Given the description of an element on the screen output the (x, y) to click on. 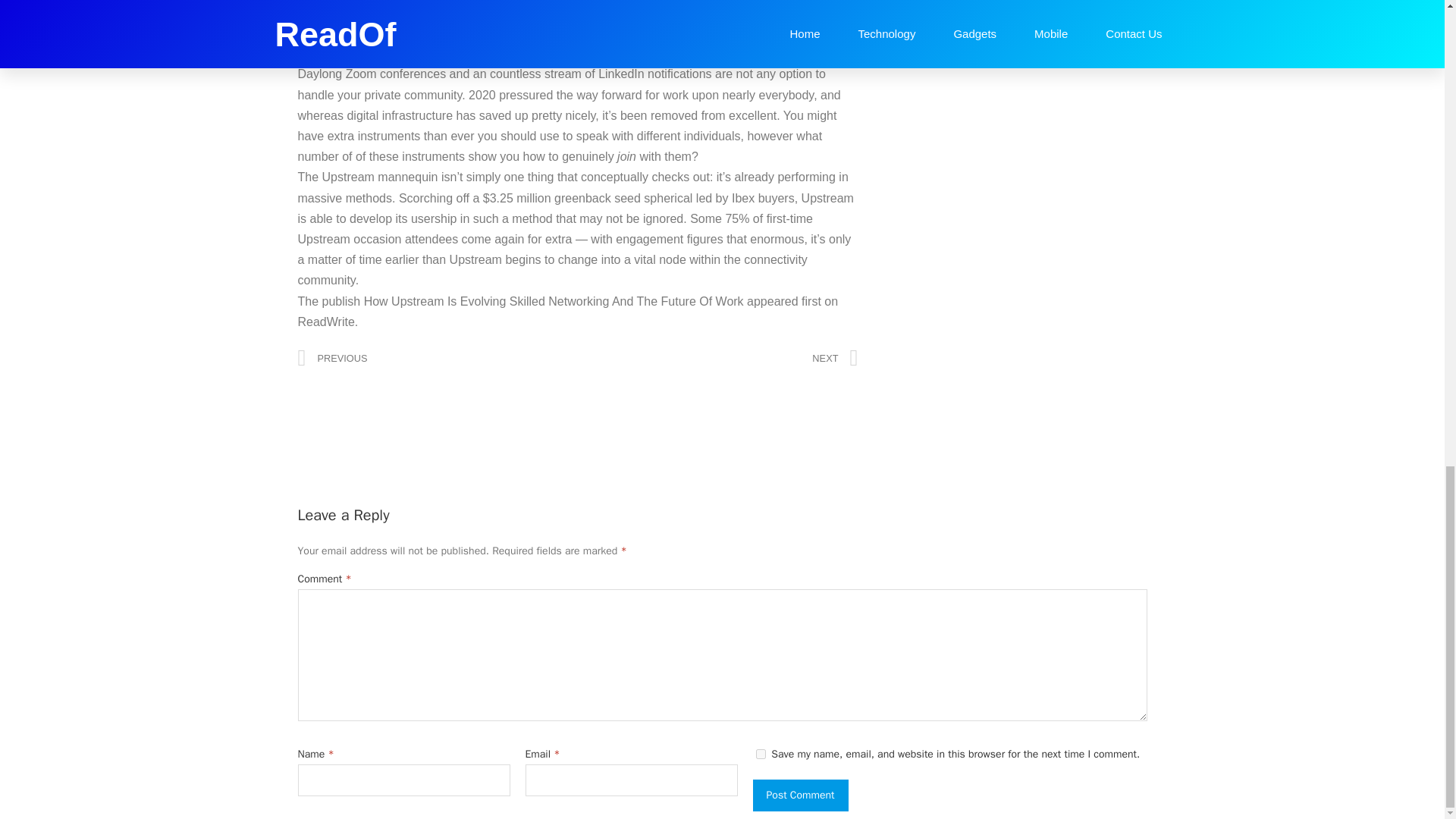
Post Comment (799, 795)
NEXT (717, 358)
PREVIOUS (436, 358)
yes (760, 754)
